Given the description of an element on the screen output the (x, y) to click on. 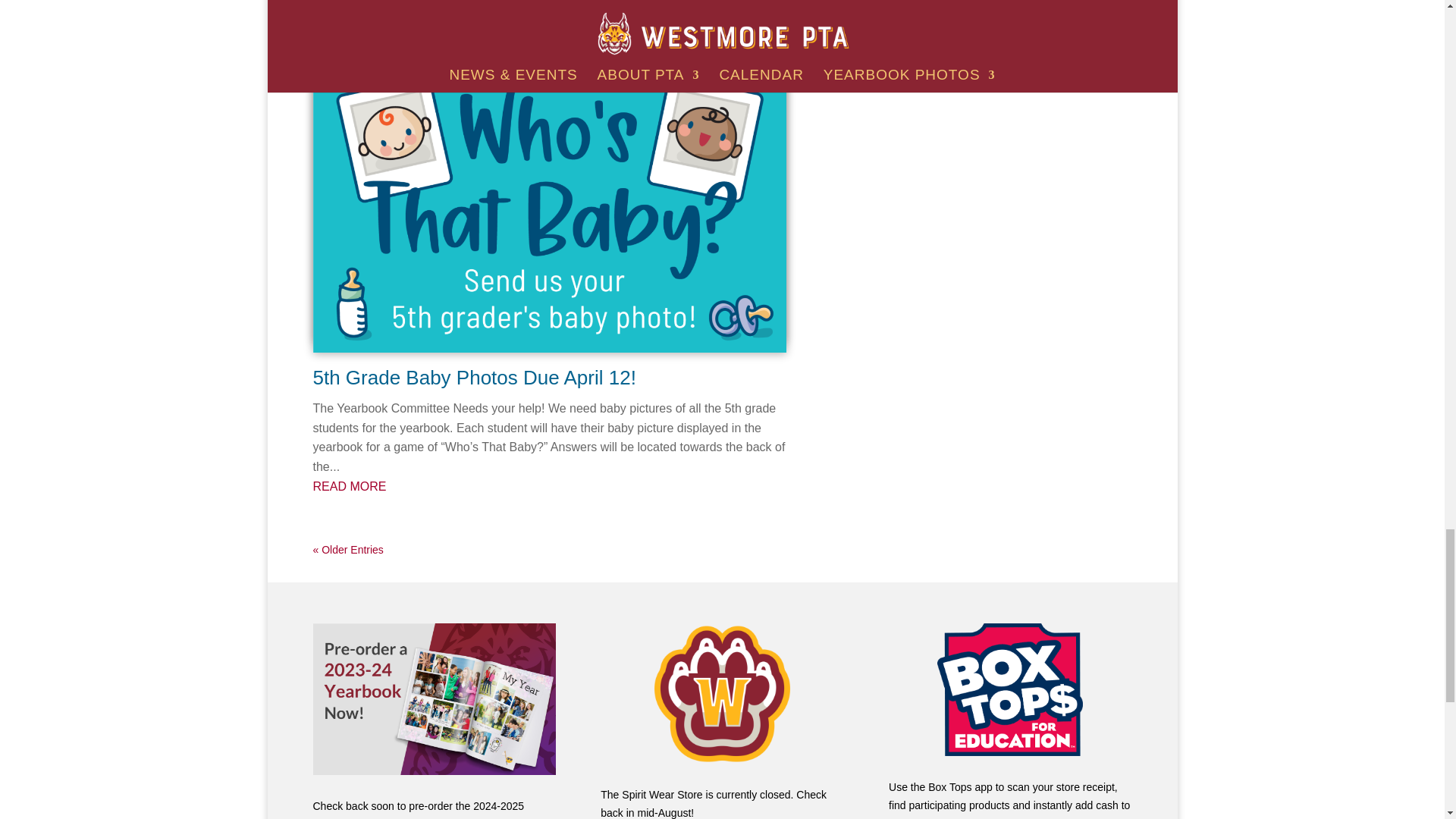
cropped-Westmore-Paw.png (722, 693)
READ MORE (549, 5)
5th Grade Baby Photos Due April 12! (473, 377)
READ MORE (549, 486)
